Given the description of an element on the screen output the (x, y) to click on. 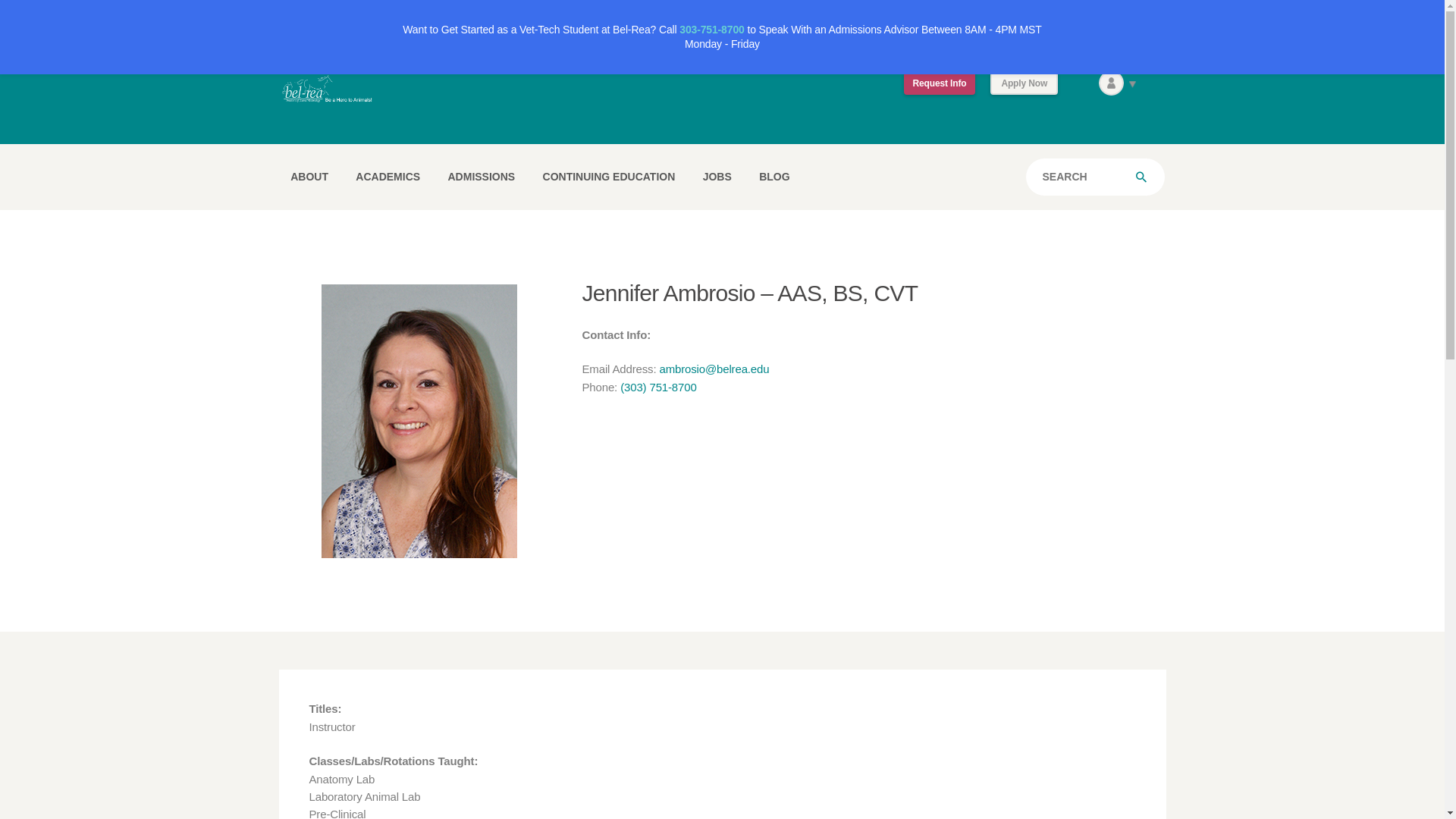
CONTINUING EDUCATION (609, 176)
BLOG (774, 176)
ACADEMICS (387, 176)
ABOUT (309, 176)
JOBS (717, 176)
ADMISSIONS (481, 176)
Apply Now (1024, 83)
Request Info (939, 83)
